Given the description of an element on the screen output the (x, y) to click on. 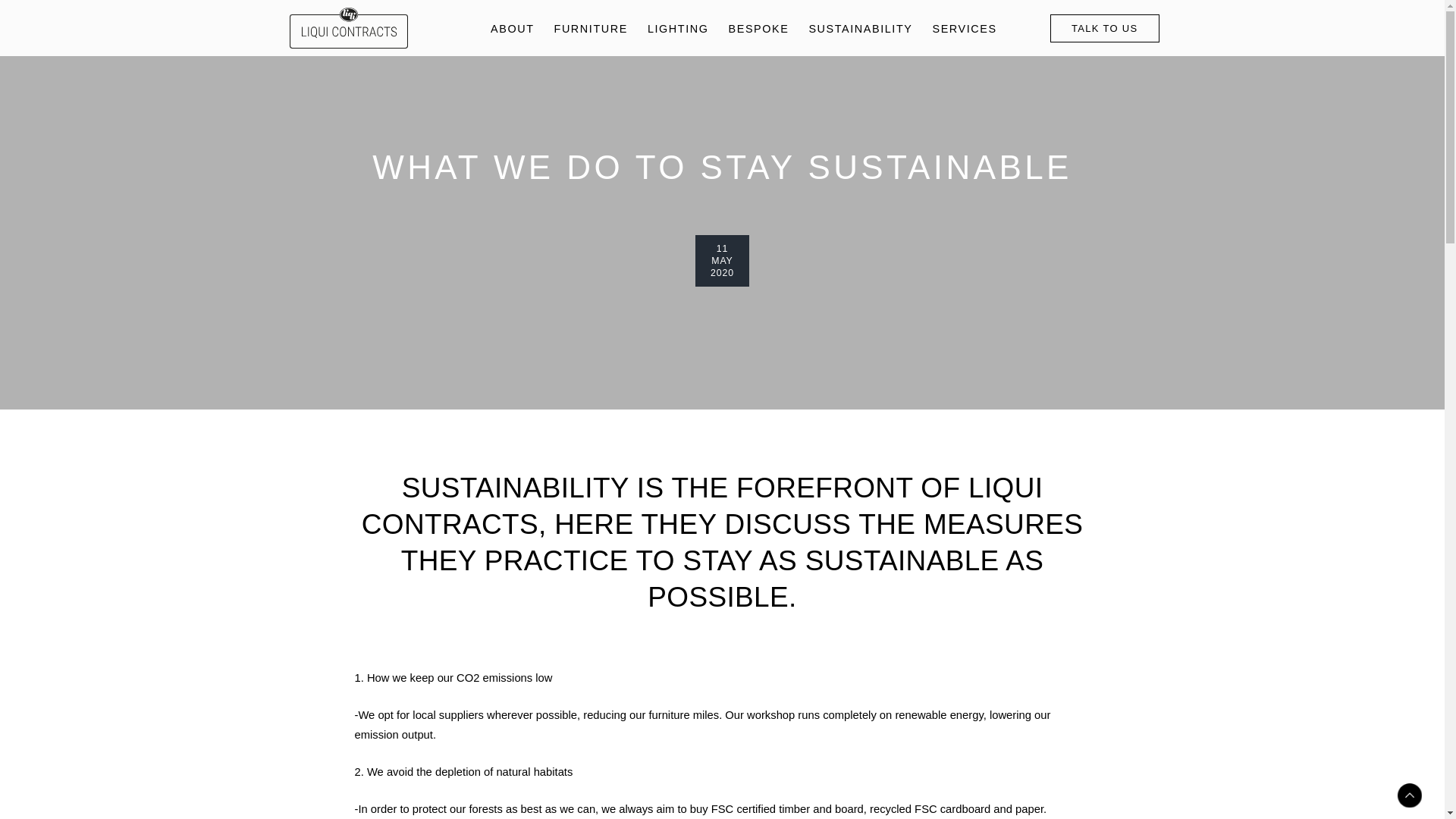
LIGHTING (678, 28)
SERVICES (965, 28)
SUSTAINABILITY (860, 28)
Go to top of page (1409, 794)
ABOUT (512, 28)
BESPOKE (759, 28)
FURNITURE (590, 28)
TALK TO US (1103, 28)
